Given the description of an element on the screen output the (x, y) to click on. 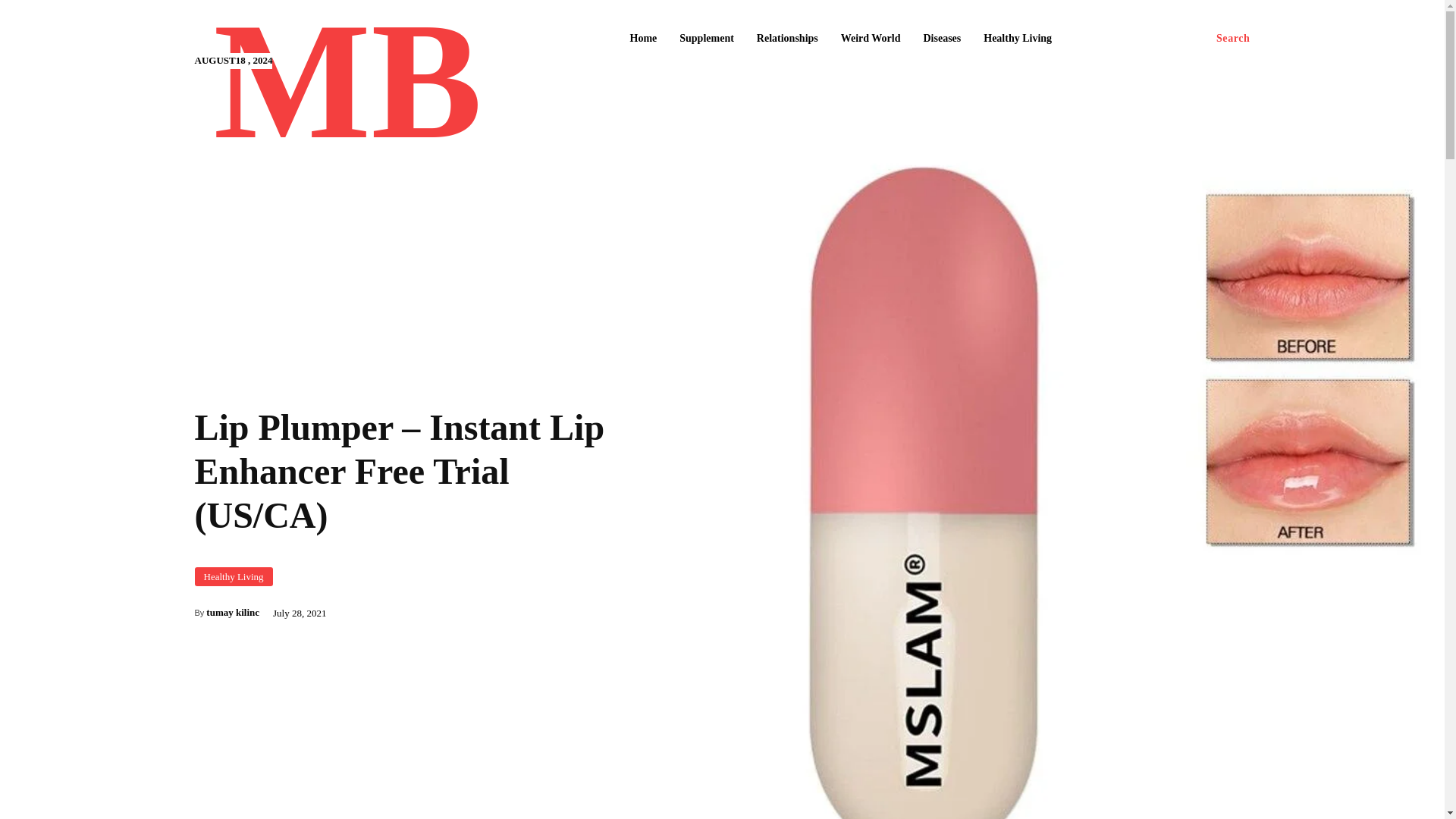
tumay kilinc (232, 612)
Home (642, 38)
Healthy Living (232, 576)
Healthy Living (1017, 38)
Relationships (787, 38)
Diseases (941, 38)
Search (1232, 38)
Supplement (706, 38)
MB (347, 90)
